Given the description of an element on the screen output the (x, y) to click on. 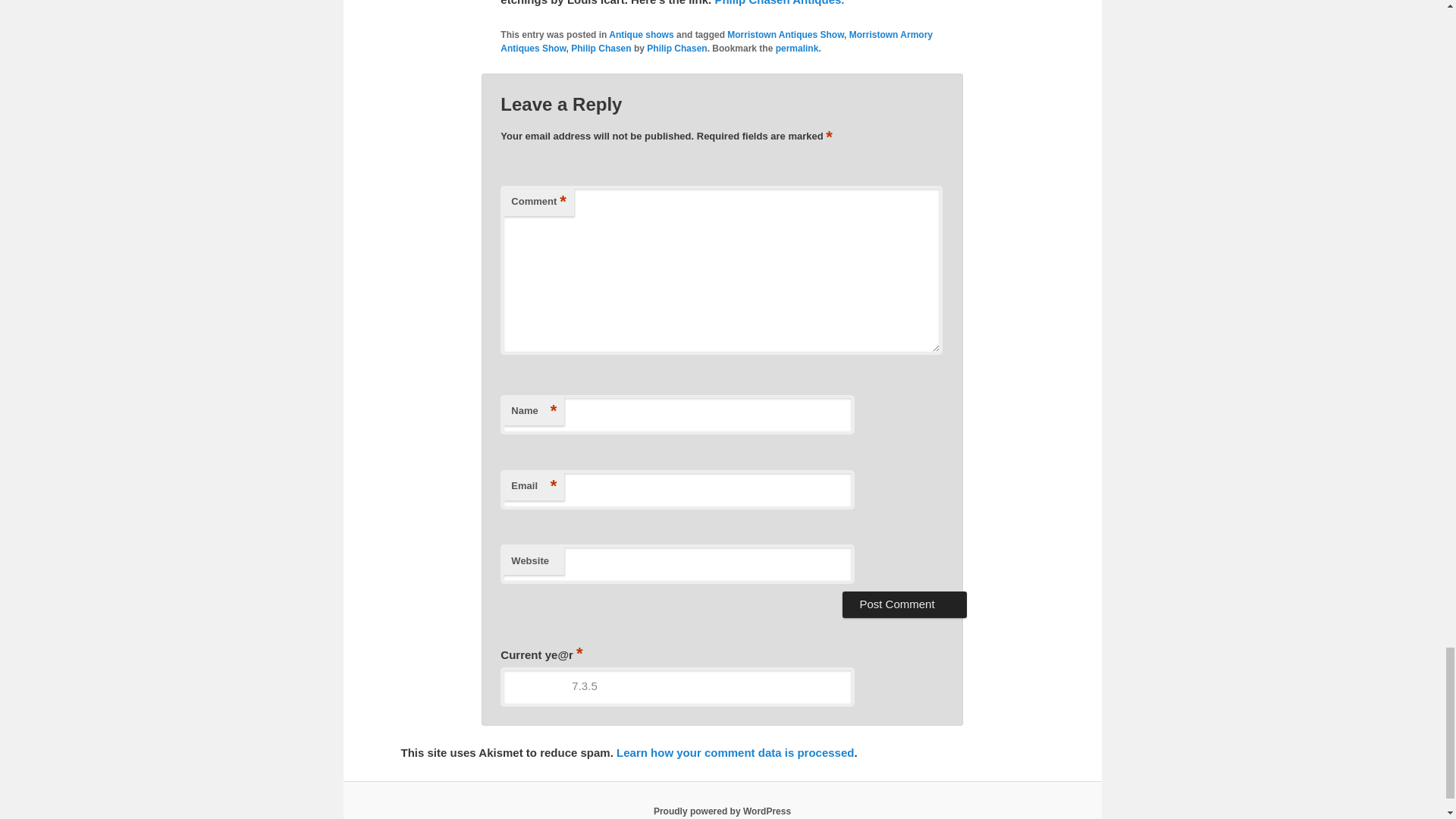
Post Comment (904, 604)
Morristown Armory Antiques Show (716, 41)
7.3.5 (676, 686)
Semantic Personal Publishing Platform (721, 810)
permalink (797, 48)
Philip Chasen (600, 48)
Morristown Antiques Show (785, 34)
Learn how your comment data is processed (734, 752)
Post Comment (904, 604)
Proudly powered by WordPress (721, 810)
Antique shows (640, 34)
Philip Chasen Antiques. (779, 2)
Philip Chasen (676, 48)
